Given the description of an element on the screen output the (x, y) to click on. 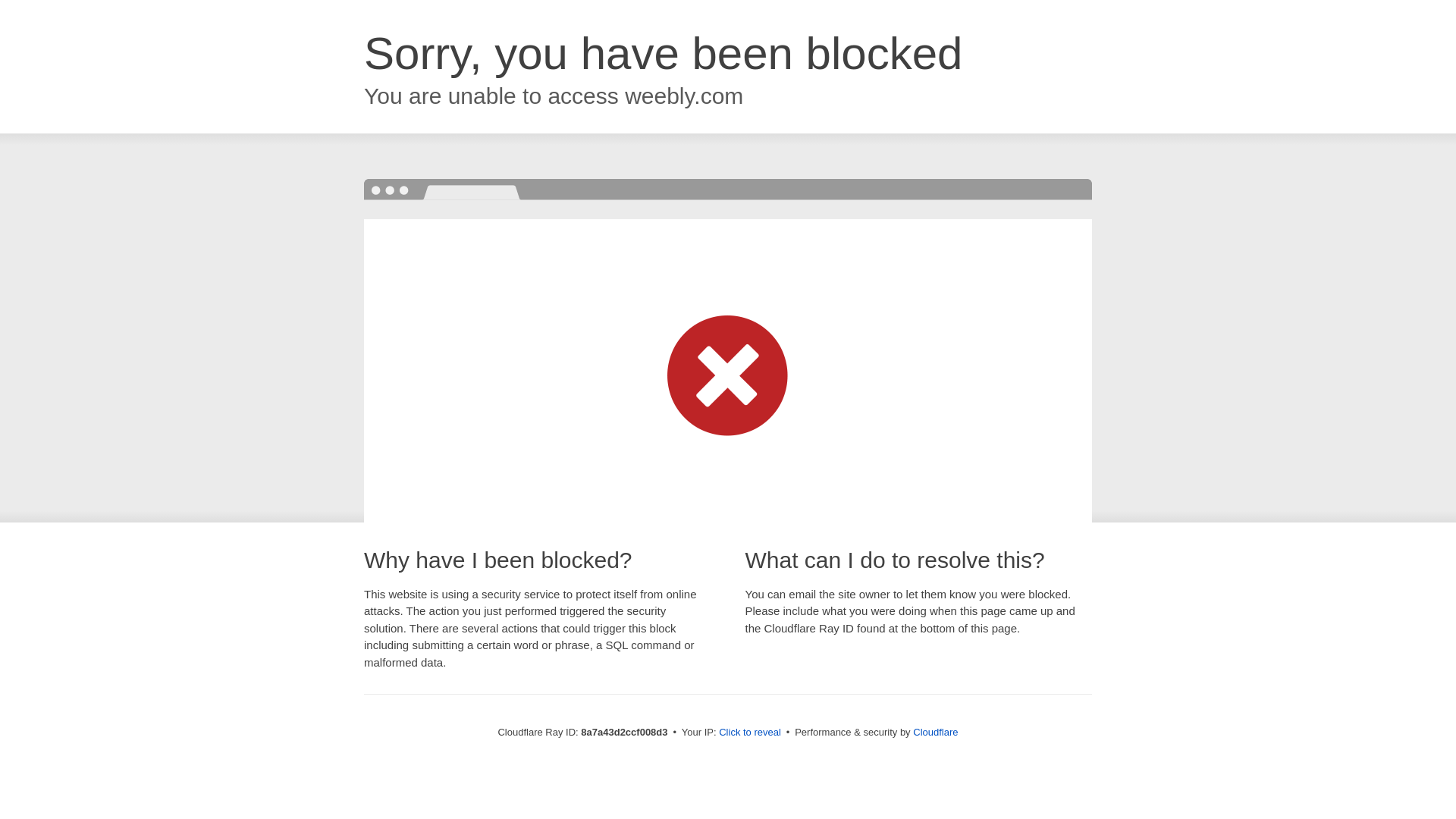
Click to reveal (749, 732)
Cloudflare (935, 731)
